Given the description of an element on the screen output the (x, y) to click on. 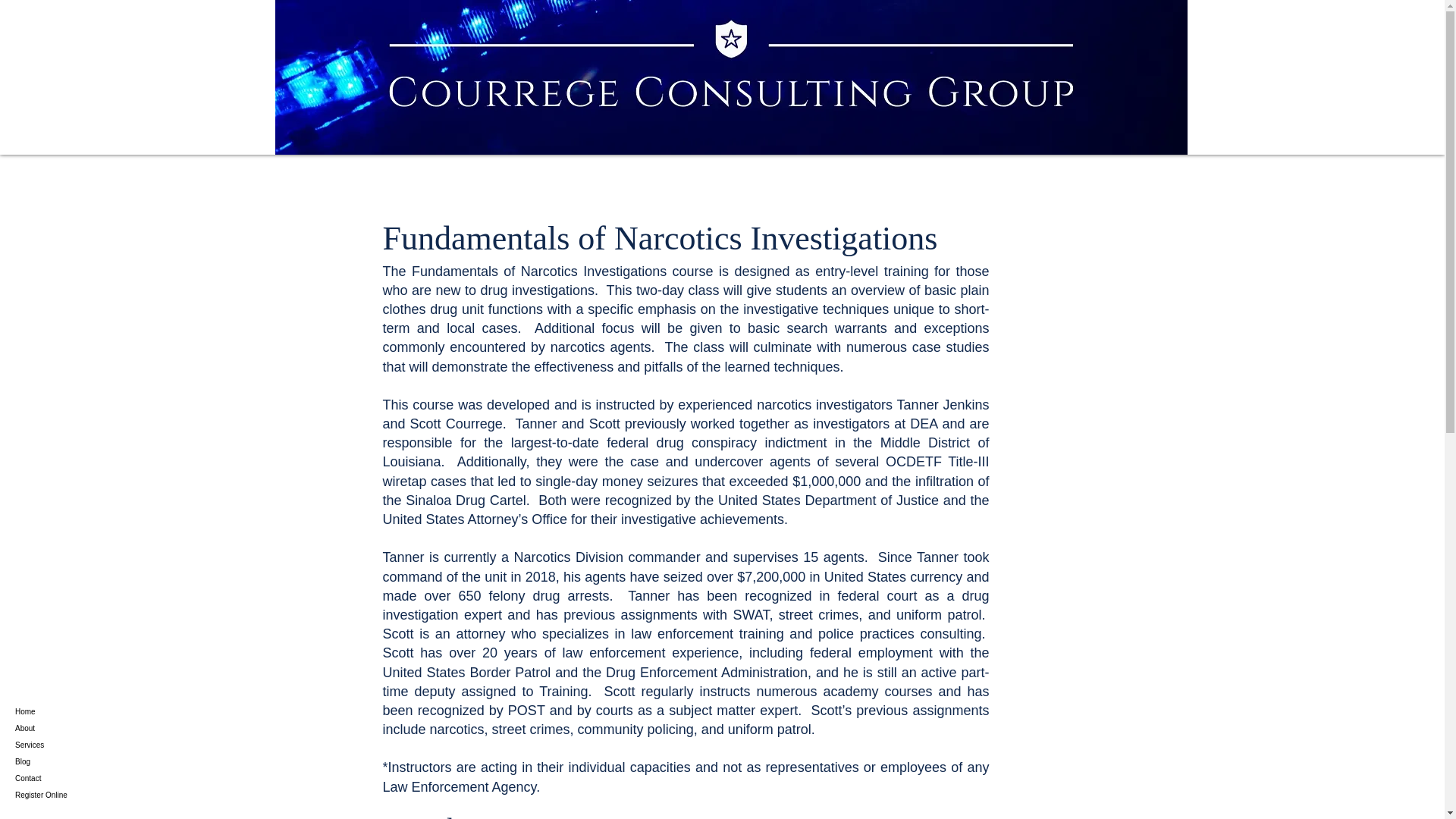
Home (68, 711)
About (68, 728)
Register Online (68, 795)
Blog (68, 761)
Contact (68, 778)
